Given the description of an element on the screen output the (x, y) to click on. 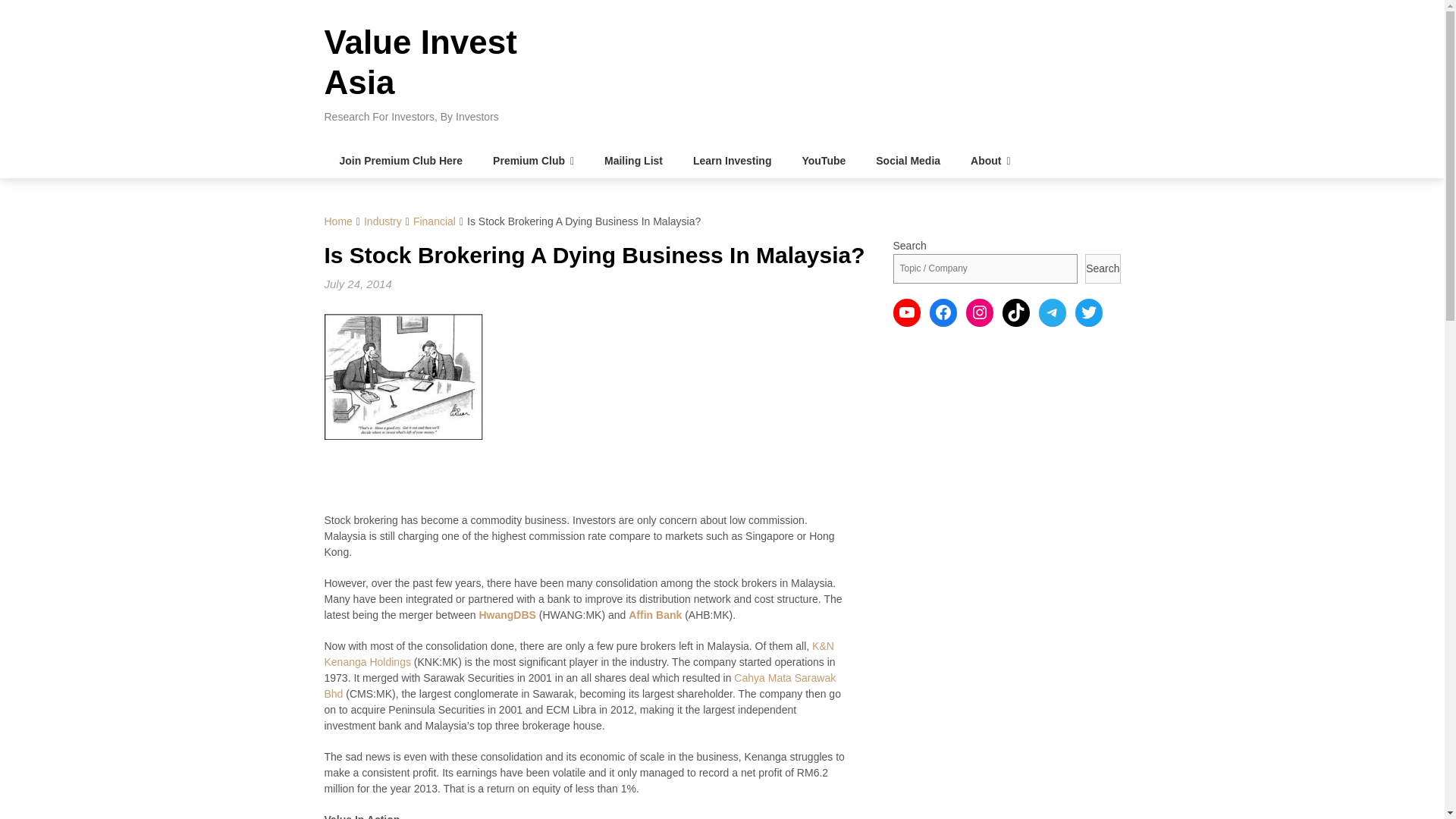
Mailing List (633, 161)
Financial (434, 221)
HwangDBS (507, 614)
Join Premium Club Here (401, 161)
Search (1101, 268)
YouTube (823, 161)
Value Invest Asia (420, 61)
Premium Club (533, 161)
Industry (382, 221)
Social Media (907, 161)
